Given the description of an element on the screen output the (x, y) to click on. 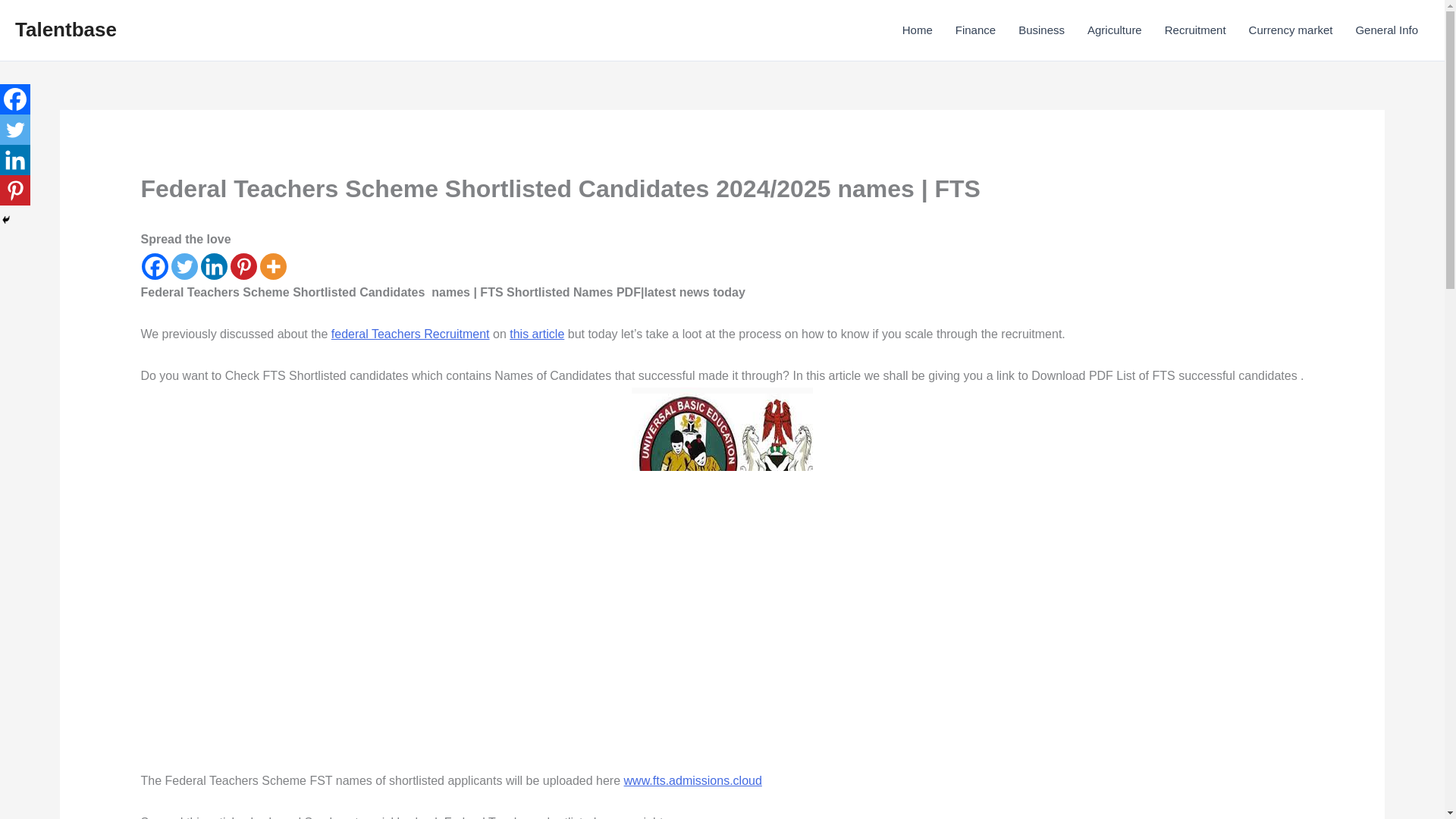
Finance (975, 30)
federal Teachers Recruitment (410, 333)
Agriculture (1114, 30)
Twitter (184, 266)
Facebook (15, 99)
this article (536, 333)
www.fts.admissions.cloud (692, 780)
Currency market (1290, 30)
General Info (1386, 30)
Business (1041, 30)
Linkedin (213, 266)
Advertisement (253, 660)
Pinterest (243, 266)
More (273, 266)
Linkedin (15, 159)
